Given the description of an element on the screen output the (x, y) to click on. 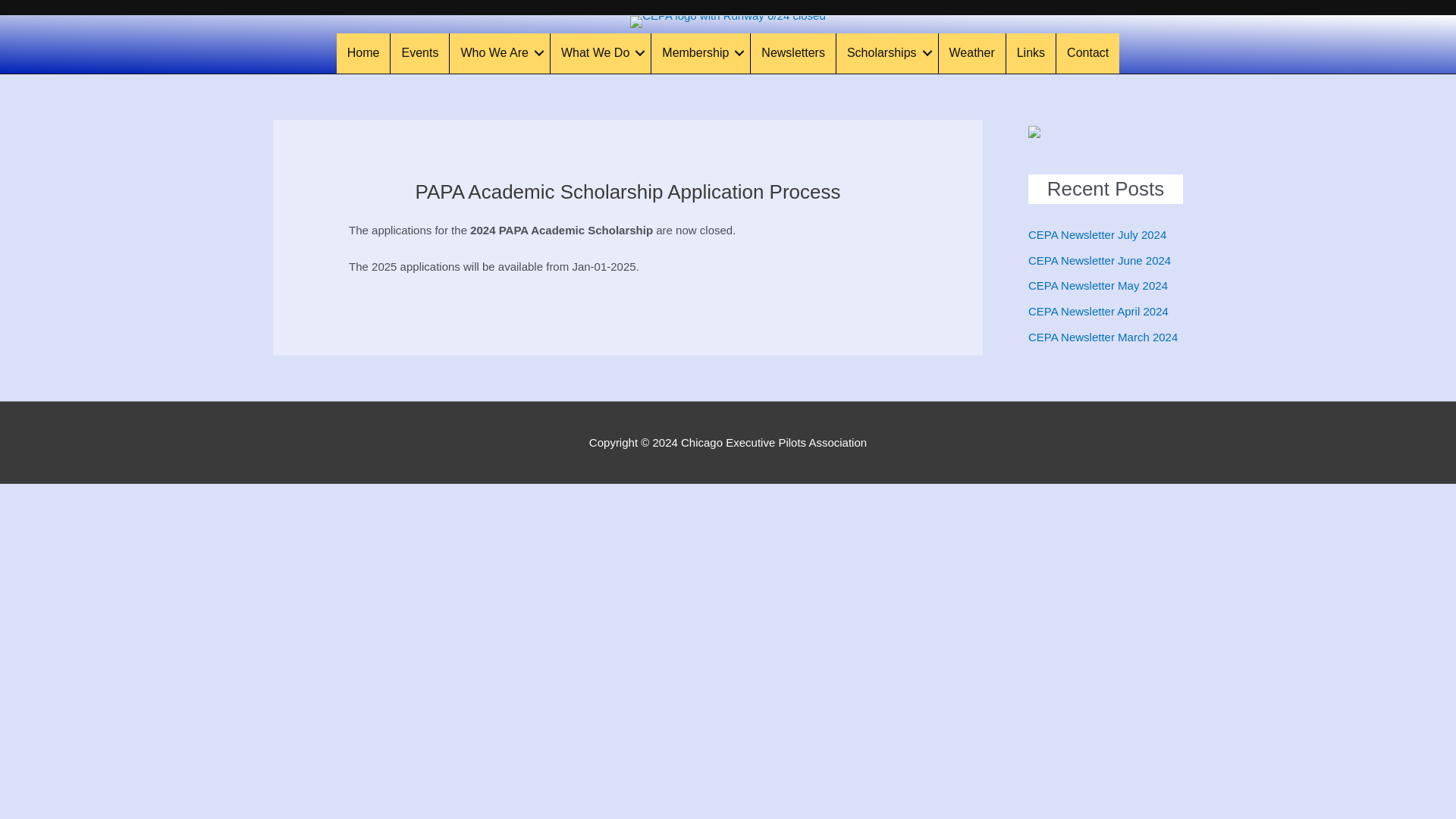
Newsletters (793, 53)
Weather (972, 53)
CEPA Newsletter March 2024 (1102, 336)
CEPA Newsletter April 2024 (1098, 310)
Membership (699, 53)
Who We Are (499, 53)
What We Do (600, 53)
Scholarships (886, 53)
Events (419, 53)
CEPA Newsletter July 2024 (1096, 234)
CEPA Newsletter May 2024 (1097, 285)
Contact (1088, 53)
CEPA Newsletter June 2024 (1098, 259)
Links (1030, 53)
Home (363, 53)
